Given the description of an element on the screen output the (x, y) to click on. 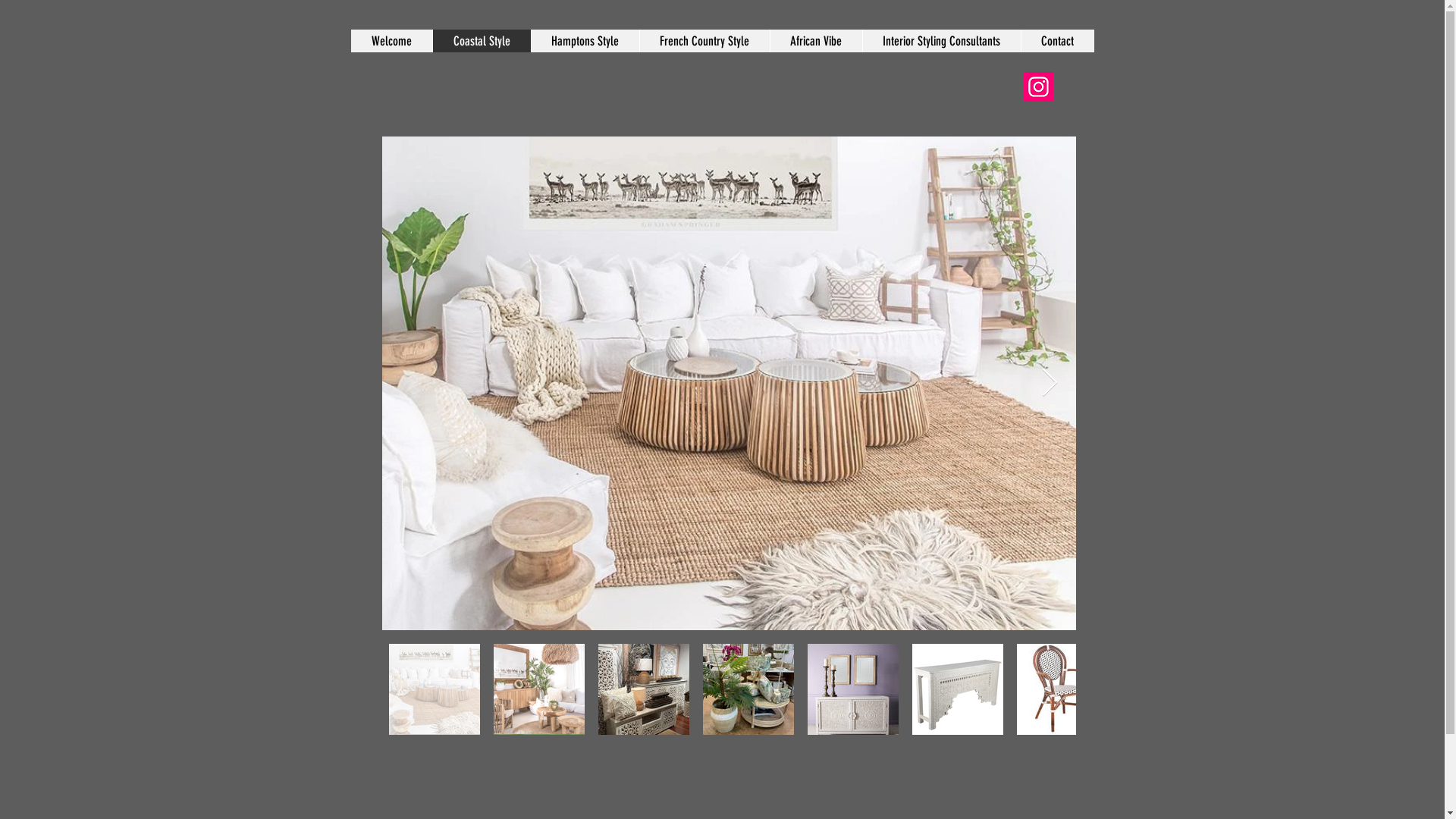
Contact Element type: text (1057, 40)
Welcome Element type: text (390, 40)
African Vibe Element type: text (814, 40)
Coastal Style Element type: text (481, 40)
French Country Style Element type: text (703, 40)
Hamptons Style Element type: text (584, 40)
Interior Styling Consultants Element type: text (940, 40)
